Given the description of an element on the screen output the (x, y) to click on. 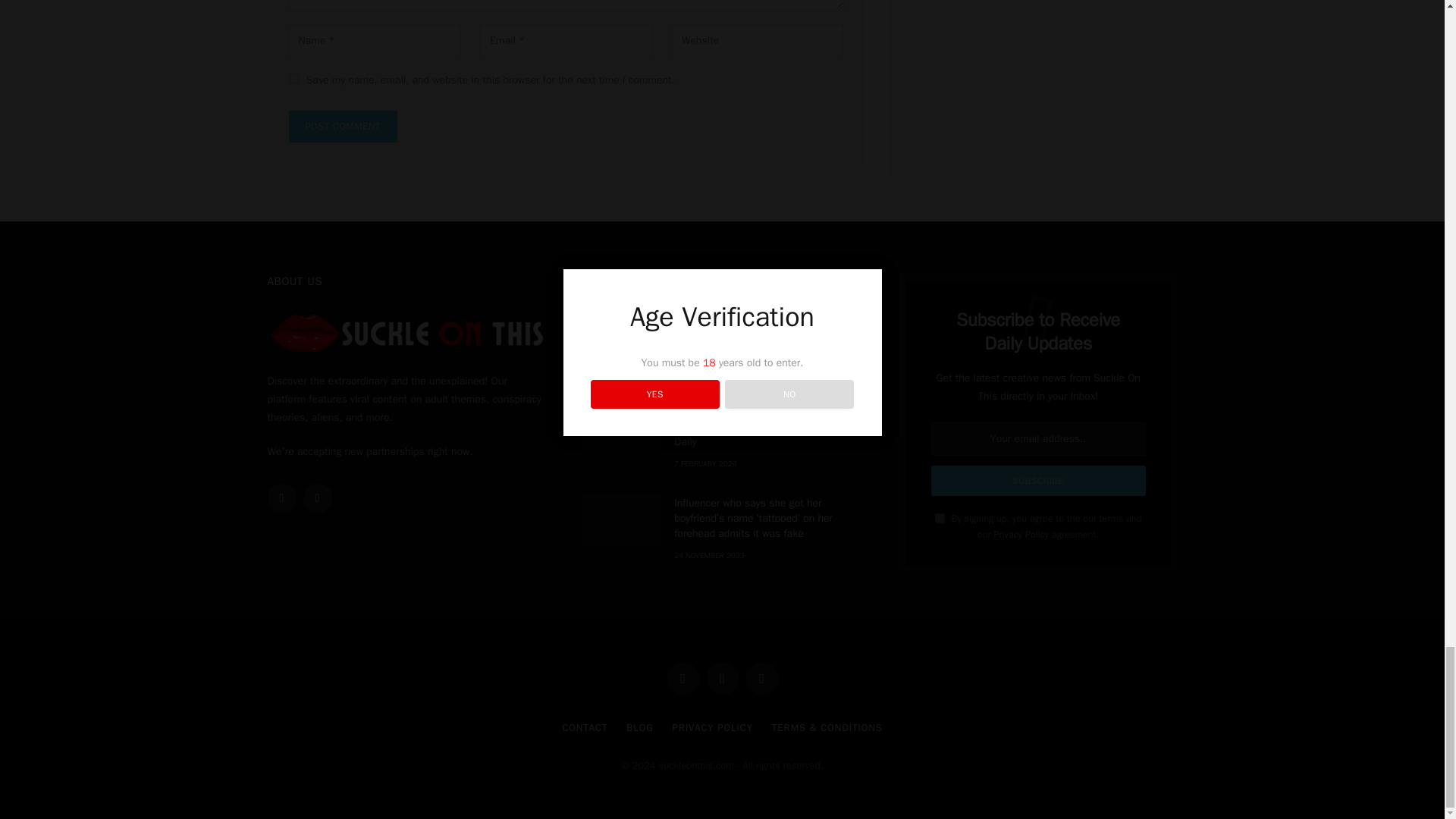
Subscribe (1038, 481)
Post Comment (342, 126)
on (939, 518)
yes (293, 78)
